Given the description of an element on the screen output the (x, y) to click on. 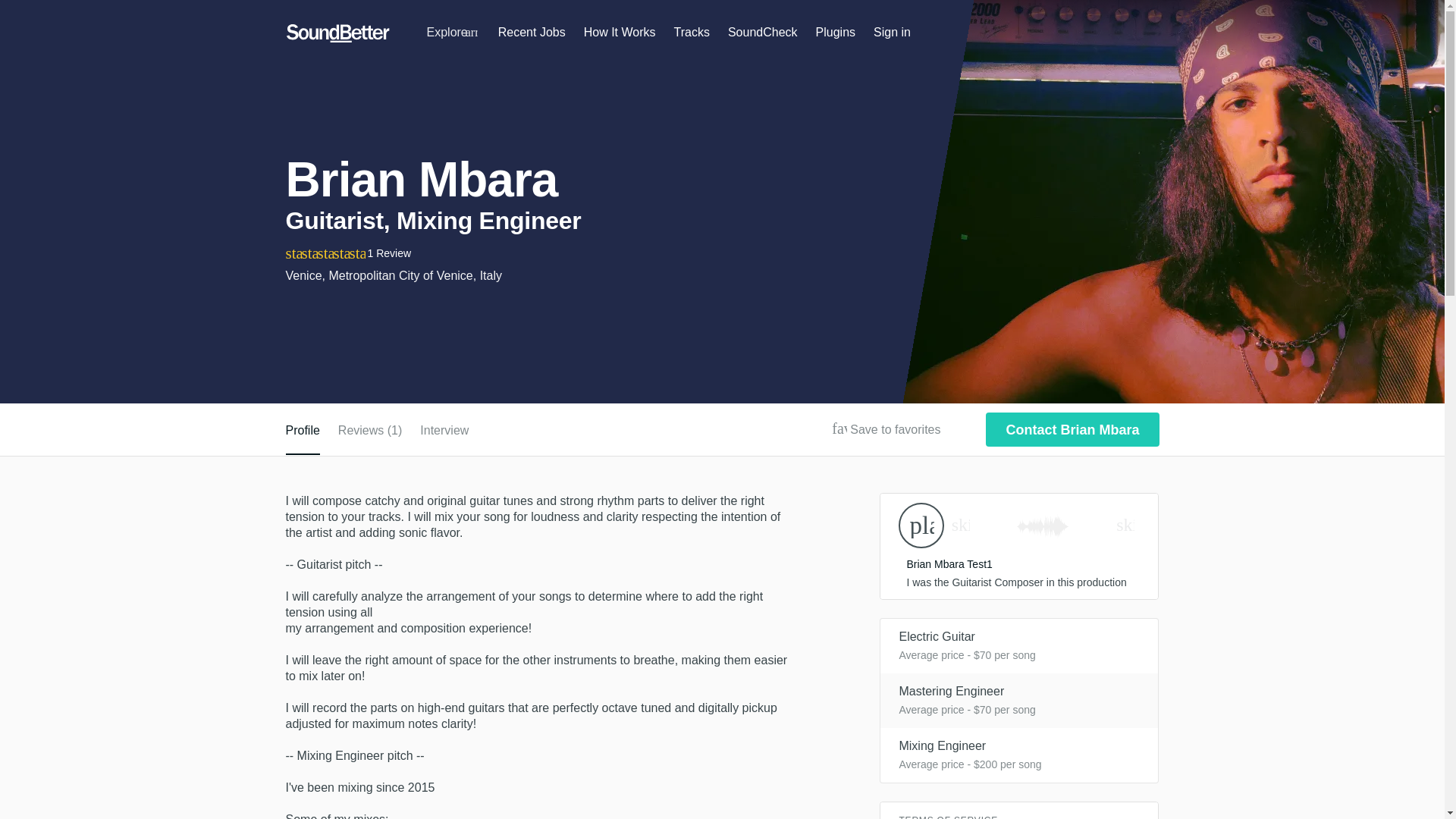
SoundBetter (337, 33)
